Given the description of an element on the screen output the (x, y) to click on. 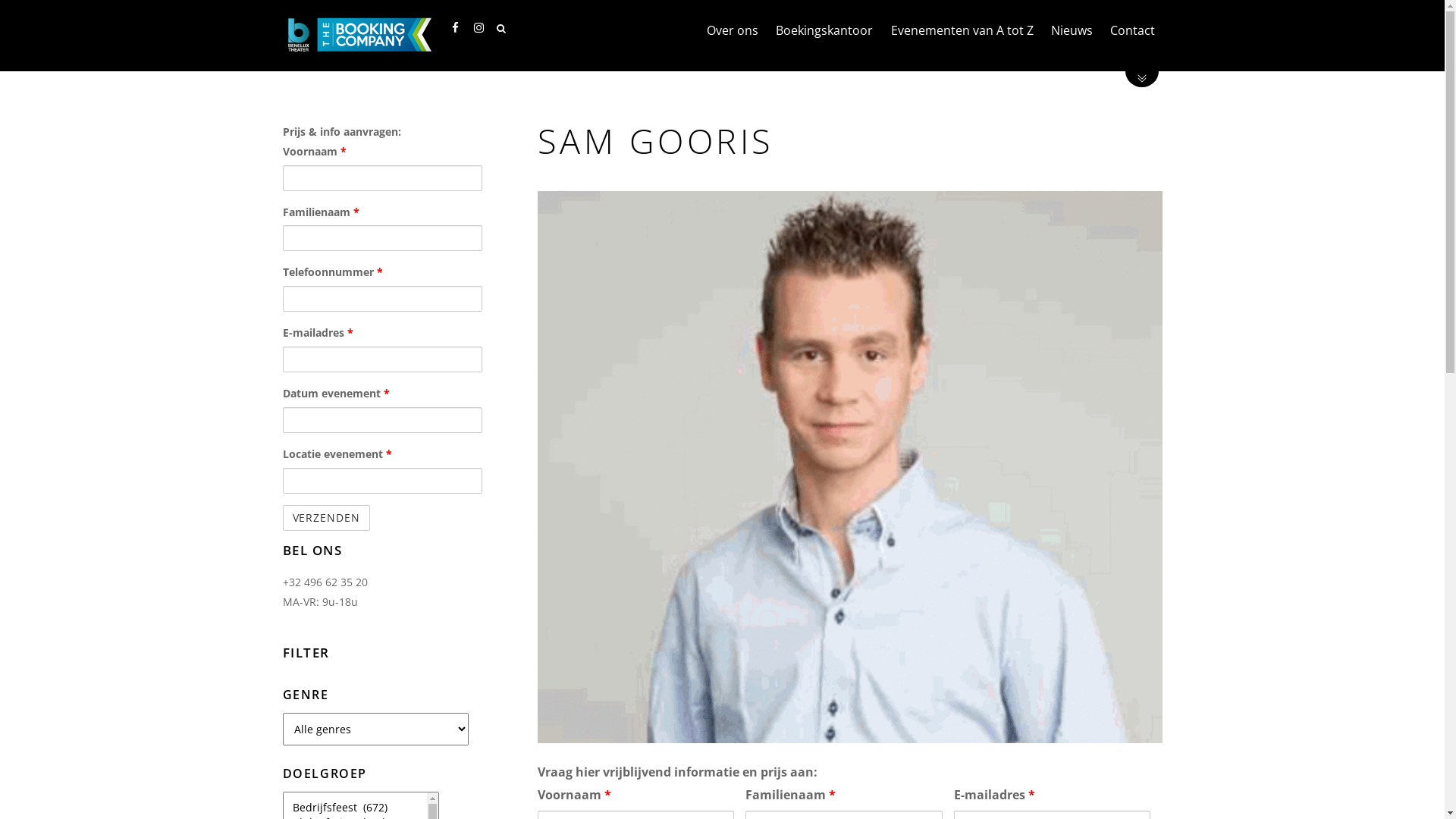
Instagram Element type: hover (477, 26)
Benelux Theater Element type: hover (357, 44)
Over ons Element type: text (732, 30)
Benelux Theater Element type: hover (357, 34)
Contact Element type: text (1131, 30)
Boekingskantoor Element type: text (824, 30)
sam Element type: hover (849, 467)
Evenementen van A tot Z Element type: text (961, 30)
Search Element type: hover (509, 27)
Nieuws Element type: text (1071, 30)
Verzenden Element type: text (325, 517)
Facebook Element type: hover (453, 26)
